Given the description of an element on the screen output the (x, y) to click on. 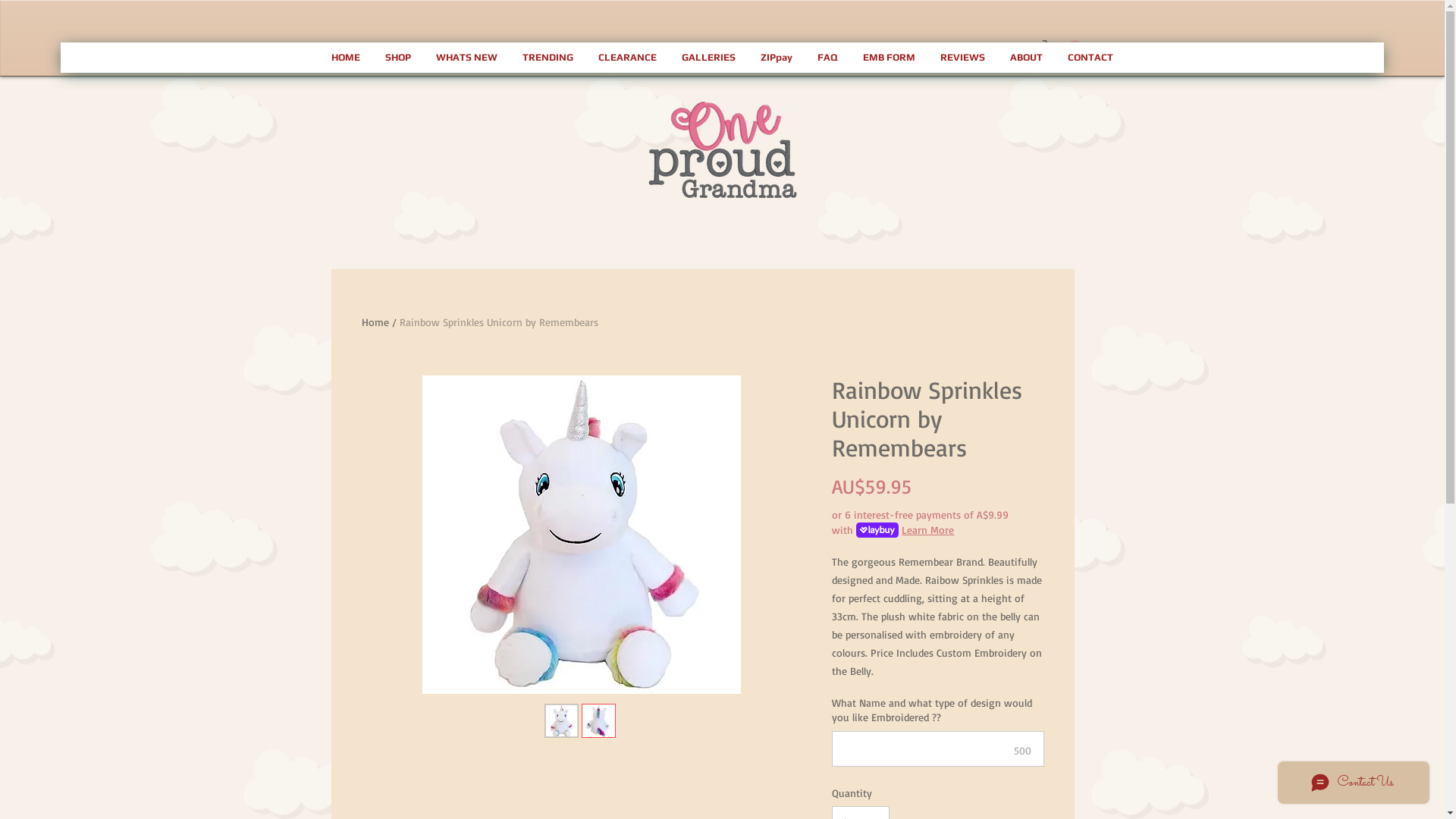
Rainbow Sprinkles Unicorn by Remembears Element type: text (497, 321)
TRENDING Element type: text (547, 57)
FAQ Element type: text (827, 57)
ABOUT Element type: text (1026, 57)
Learn More Element type: text (927, 529)
ZIPpay Element type: text (775, 57)
Home Element type: text (374, 321)
EMB FORM Element type: text (889, 57)
GALLERIES Element type: text (707, 57)
SHOP Element type: text (398, 57)
REVIEWS Element type: text (962, 57)
CLEARANCE Element type: text (626, 57)
WHATS NEW Element type: text (466, 57)
CONTACT Element type: text (1090, 57)
0 Element type: text (1061, 48)
HOME Element type: text (345, 57)
